Given the description of an element on the screen output the (x, y) to click on. 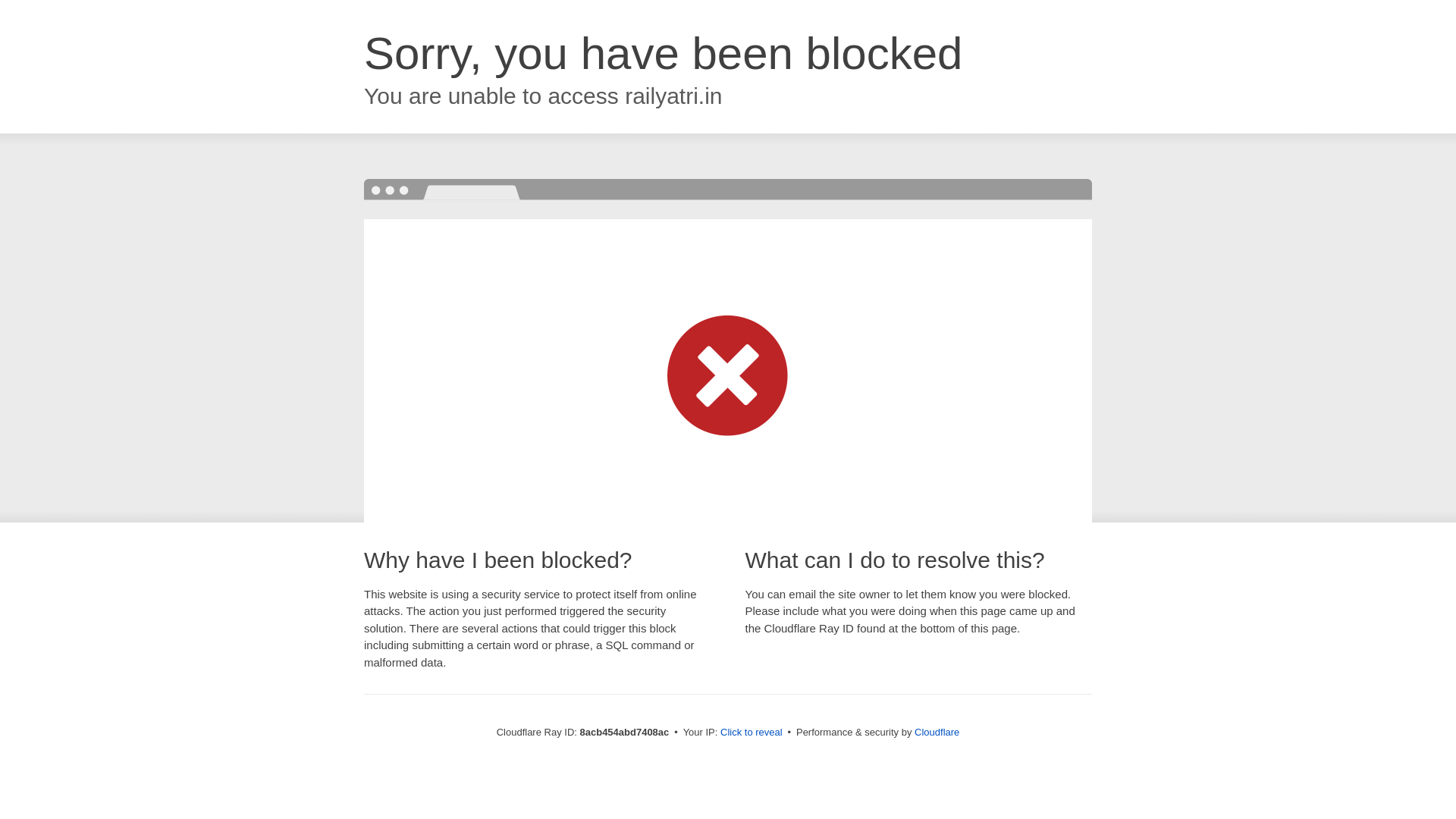
Click to reveal (751, 732)
Cloudflare (936, 731)
